Given the description of an element on the screen output the (x, y) to click on. 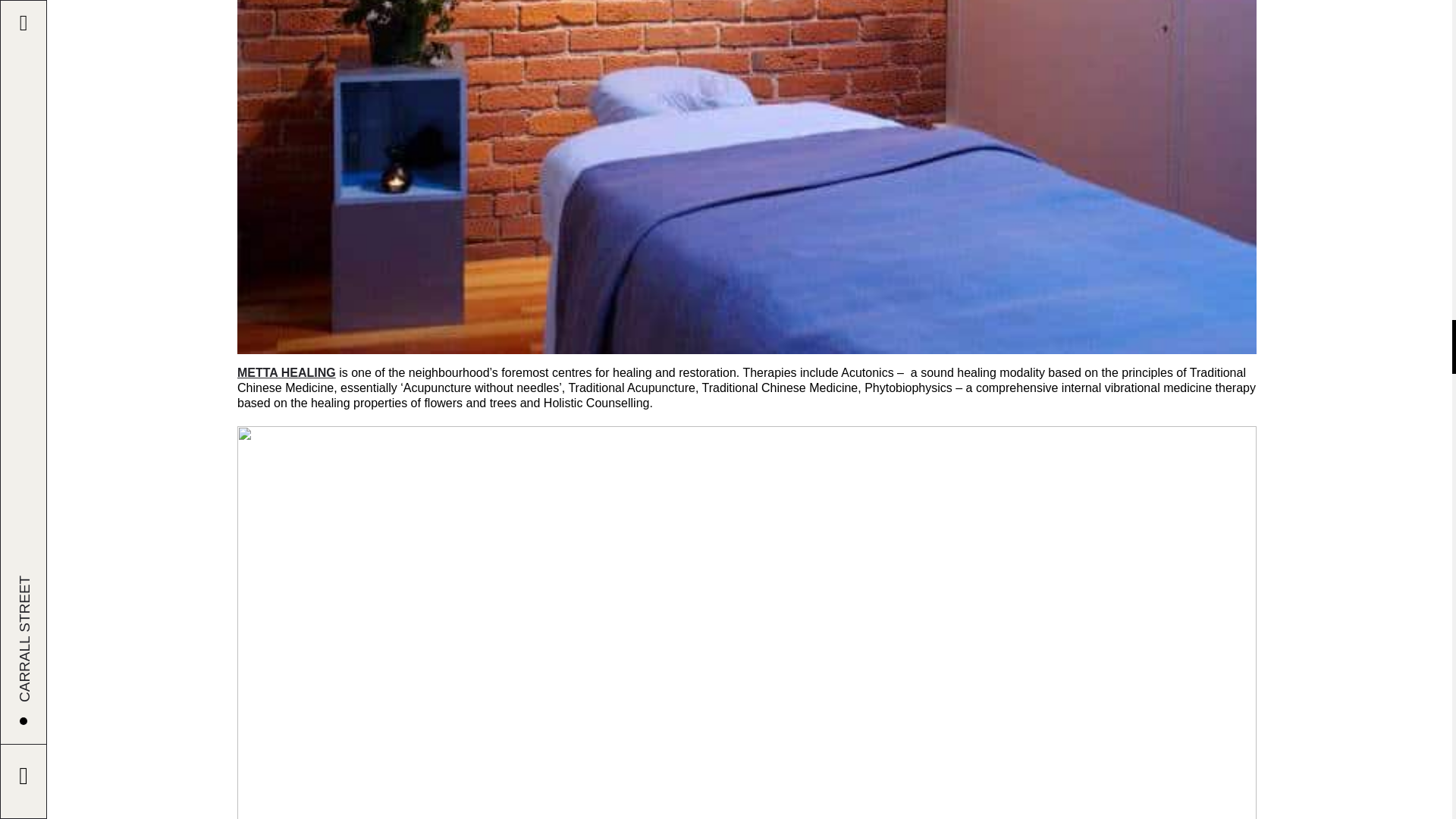
METTA HEALING (286, 372)
